Given the description of an element on the screen output the (x, y) to click on. 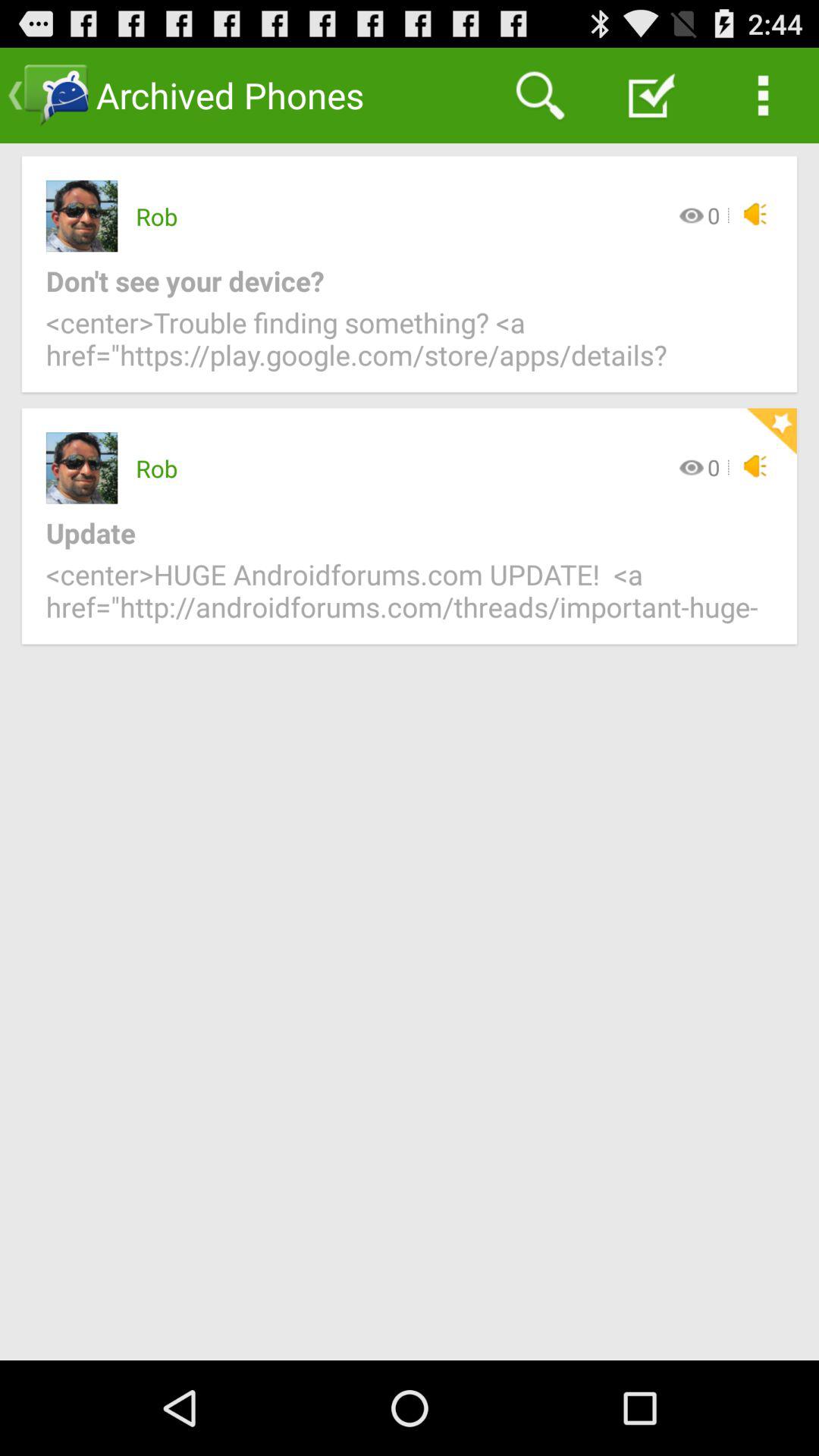
launch item below center trouble finding icon (771, 431)
